Given the description of an element on the screen output the (x, y) to click on. 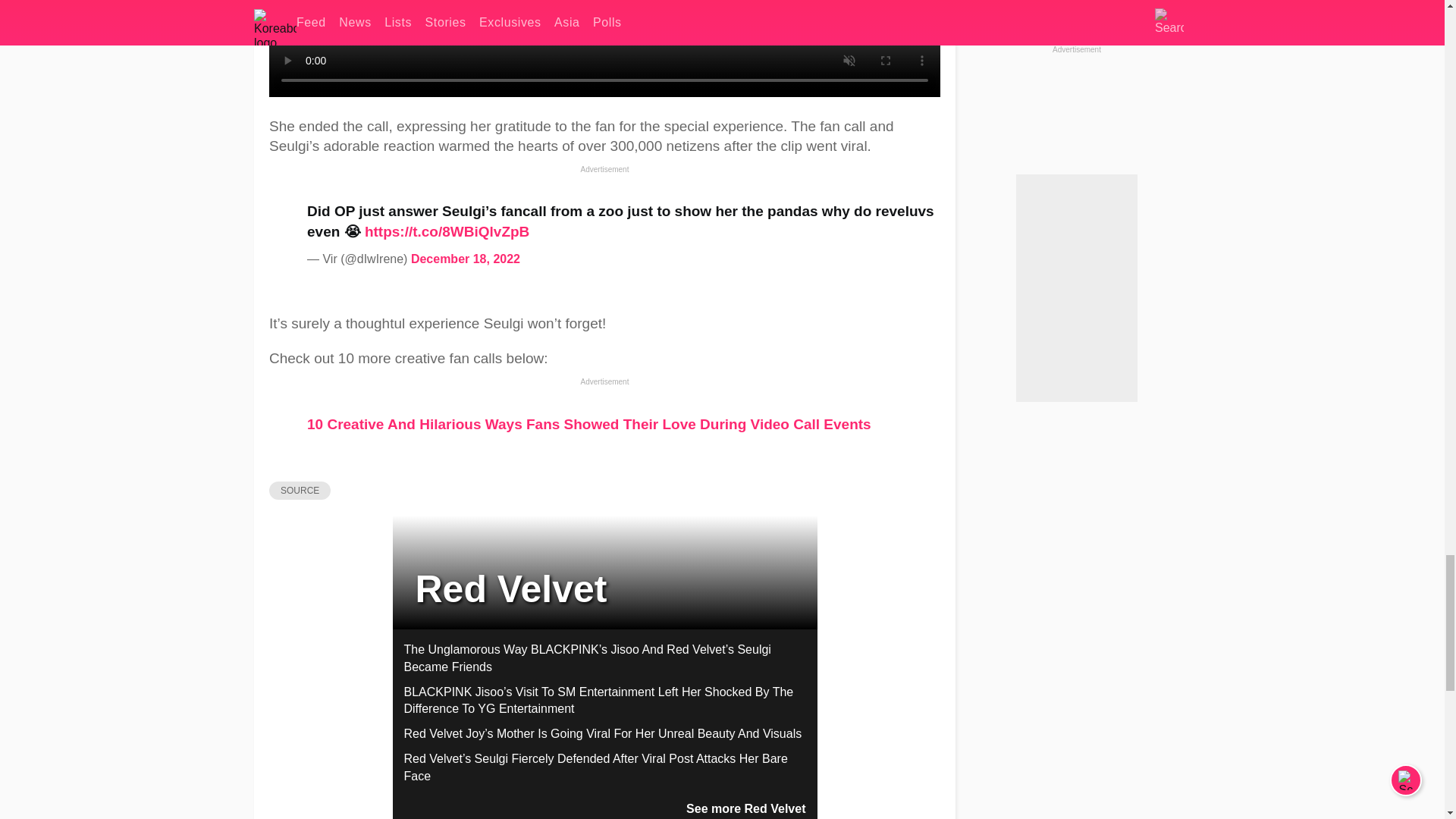
See more Red Velvet (745, 808)
December 18, 2022 (464, 258)
